Given the description of an element on the screen output the (x, y) to click on. 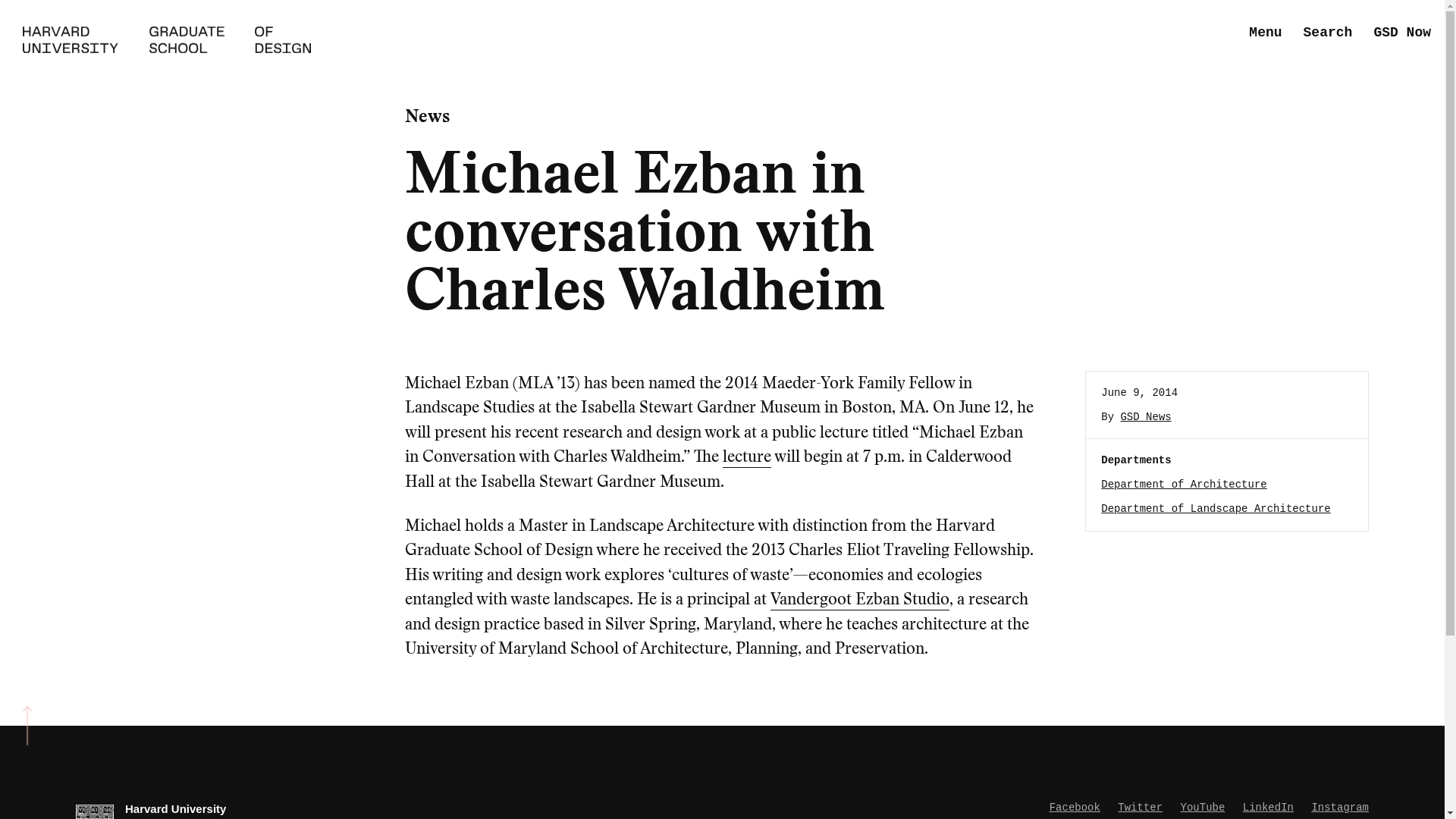
Menu (1265, 32)
GSD Now (1402, 32)
Search (1327, 32)
